Given the description of an element on the screen output the (x, y) to click on. 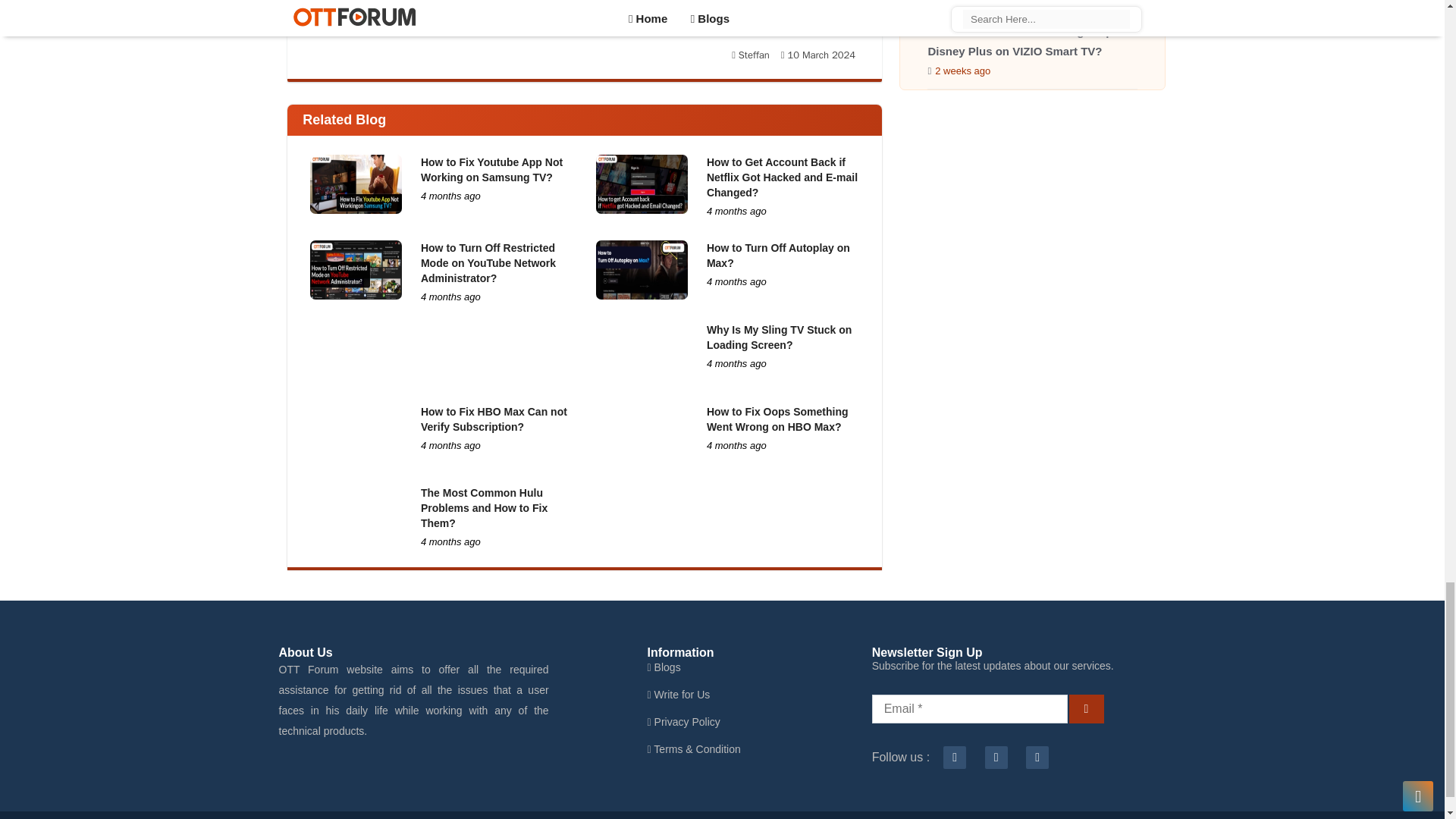
How to Fix HBO Max Can not Verify Subscription? (493, 419)
How to Fix Youtube App Not Working on Samsung TV? (491, 169)
The Most Common Hulu Problems and How to Fix Them? (483, 507)
How to Fix Youtube App Not Working on Samsung TV? (491, 169)
Why Is My Sling TV Stuck on Loading Screen? (778, 337)
How to Fix Oops Something Went Wrong on HBO Max? (777, 419)
How to Turn Off Autoplay on Max? (778, 255)
How to Fix Youtube App Not Working on Samsung TV? (355, 183)
Why Is My Sling TV Stuck on Loading Screen? (778, 337)
How to Fix HBO Max Can not Verify Subscription? (355, 433)
